Given the description of an element on the screen output the (x, y) to click on. 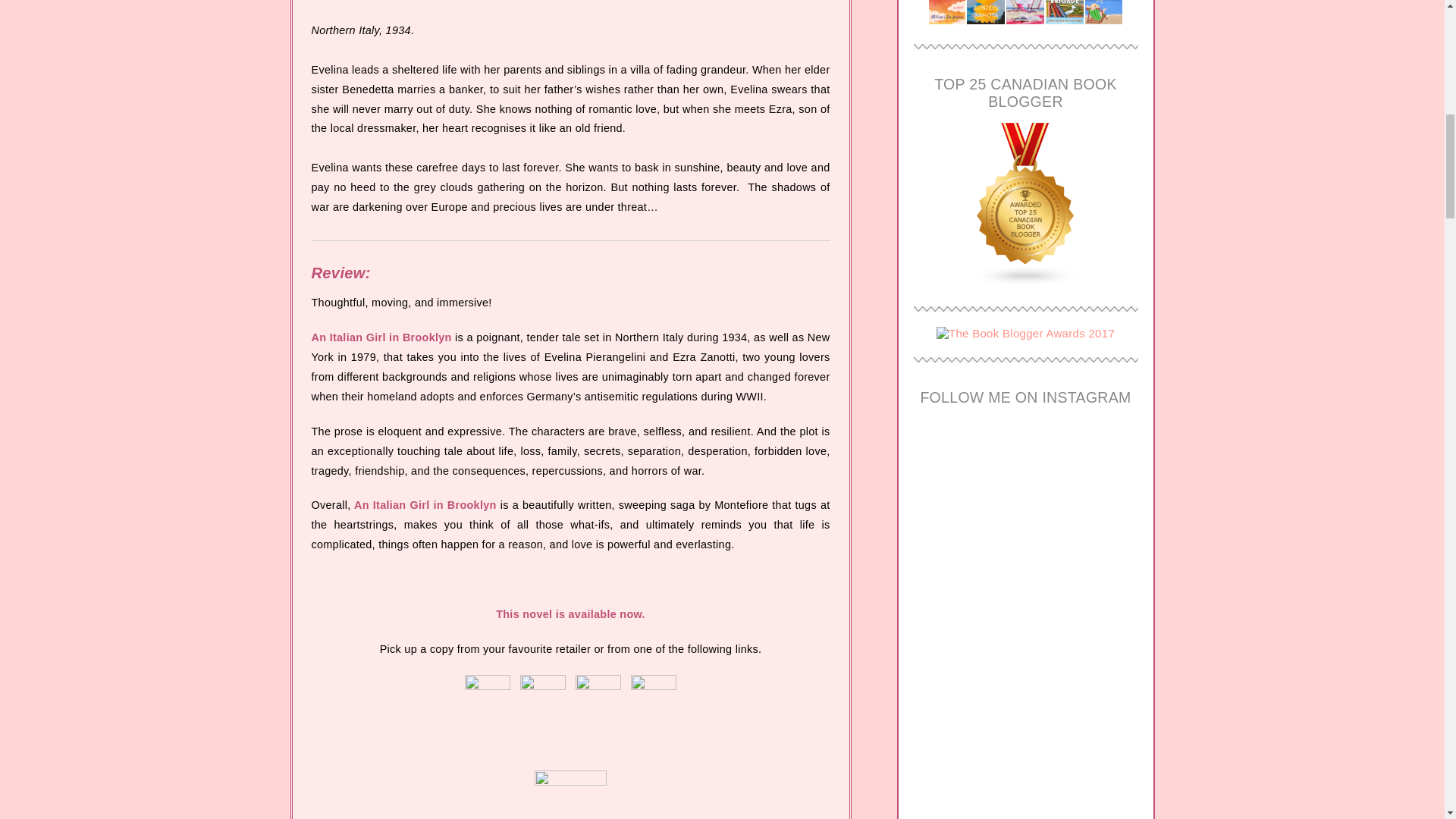
Canadian Book Bloggers (1024, 282)
goodreads-badge-add-plus-71eae69ca0307d077df66a58ec068898 (570, 781)
